Given the description of an element on the screen output the (x, y) to click on. 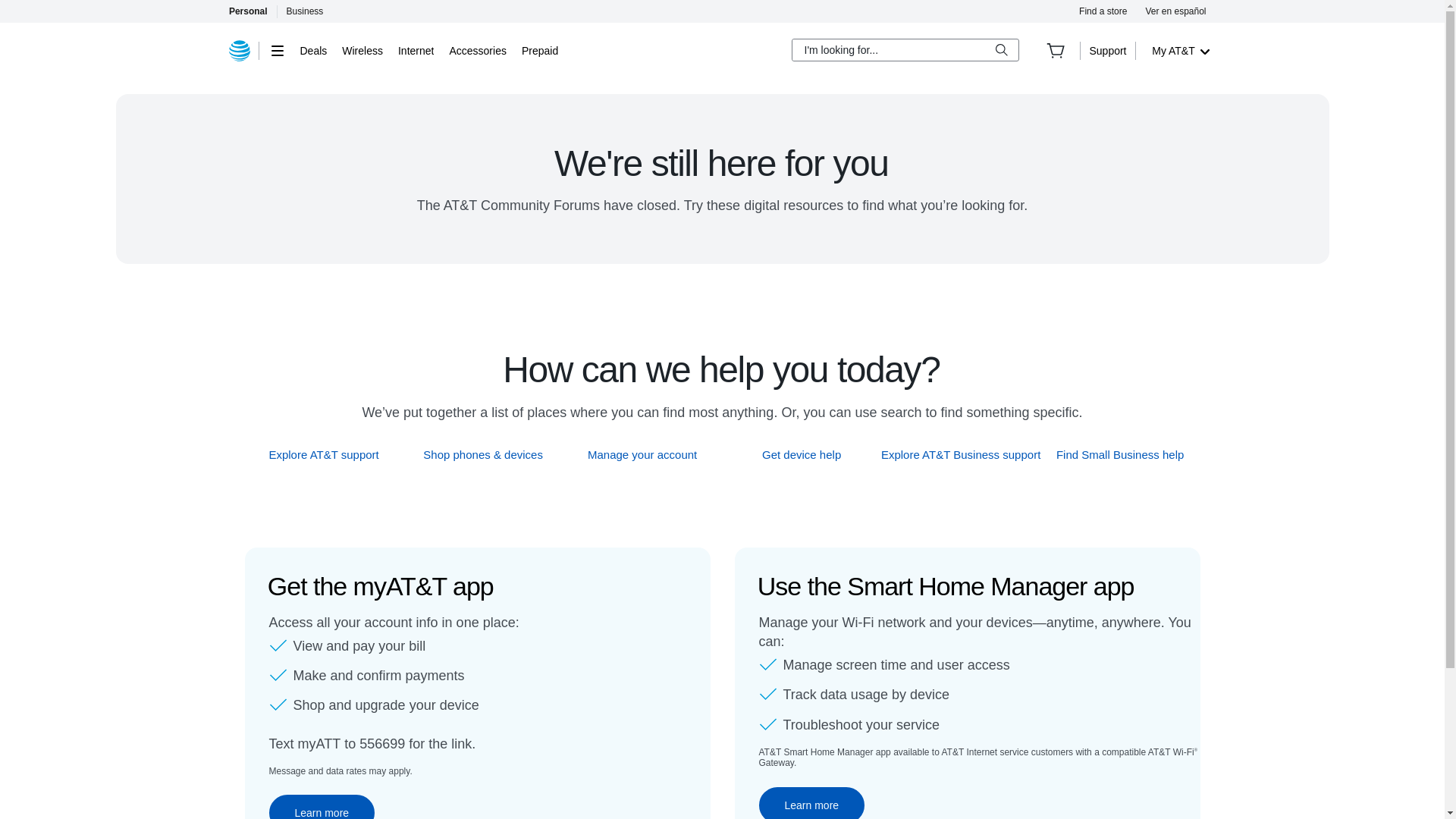
Learn more (811, 803)
Support (1107, 50)
Wireless (362, 50)
Internet (415, 50)
Deals (313, 50)
Personal (247, 10)
Learn more (320, 806)
Prepaid (539, 50)
Support (1107, 50)
Cart (1055, 50)
Business (305, 10)
Search (1000, 50)
Find a store (1102, 10)
Accessories (476, 50)
Get device help (801, 454)
